Given the description of an element on the screen output the (x, y) to click on. 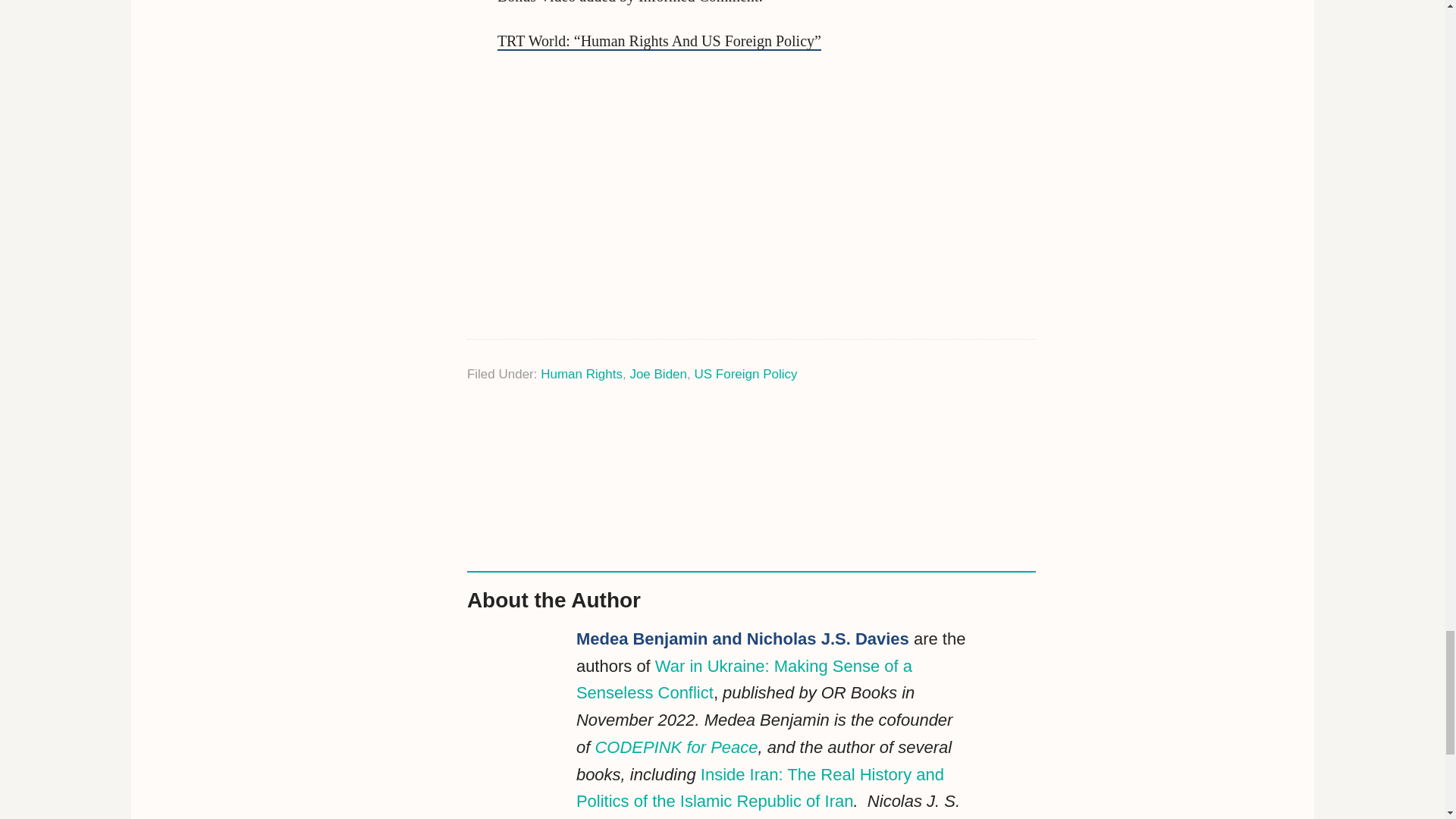
YouTube video player (709, 192)
